Given the description of an element on the screen output the (x, y) to click on. 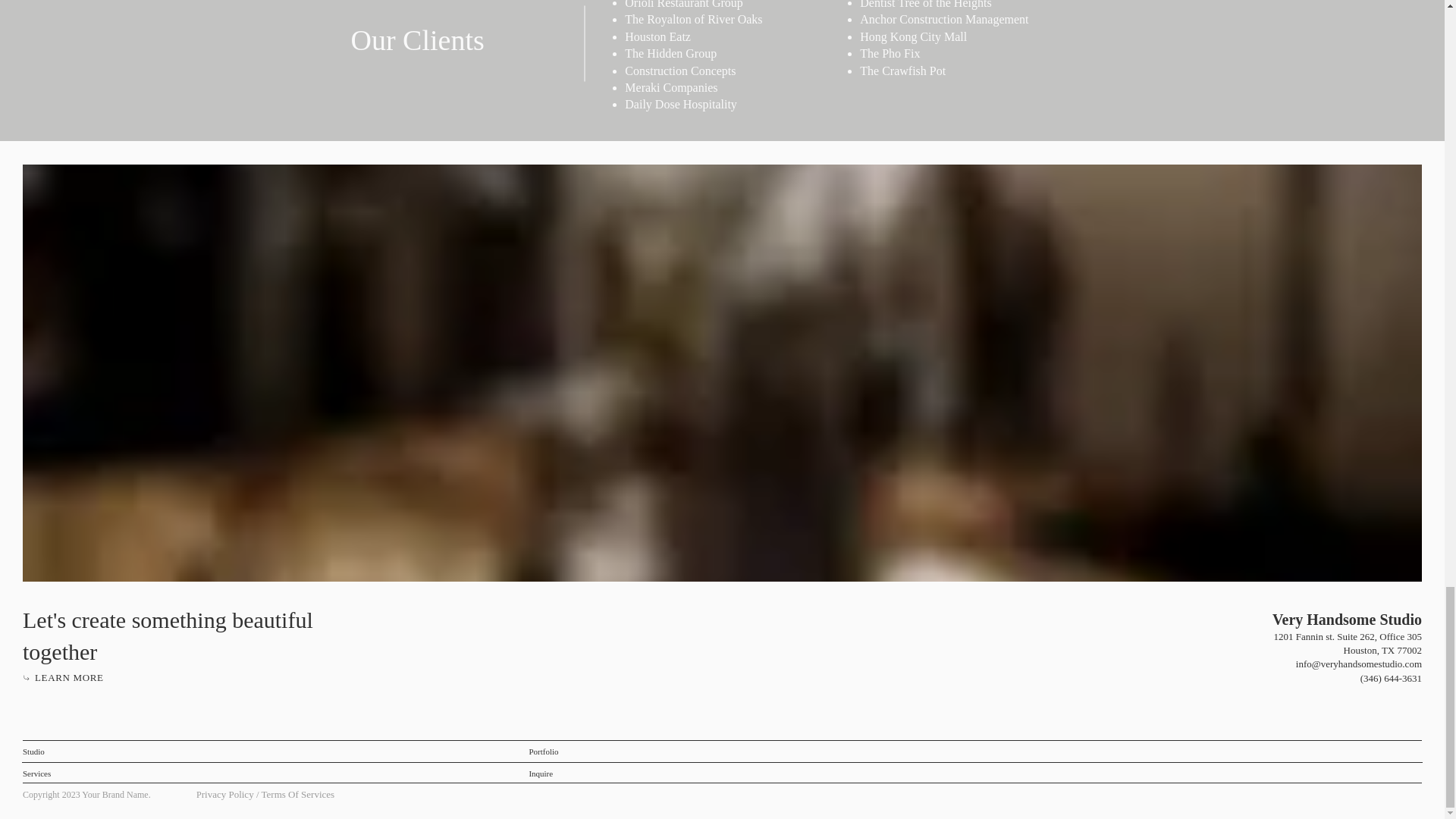
Studio (37, 751)
Terms Of Services (298, 794)
Inquire (547, 772)
LEARN MORE (63, 677)
Privacy Policy (224, 794)
Services (41, 772)
Portfolio (547, 751)
